Given the description of an element on the screen output the (x, y) to click on. 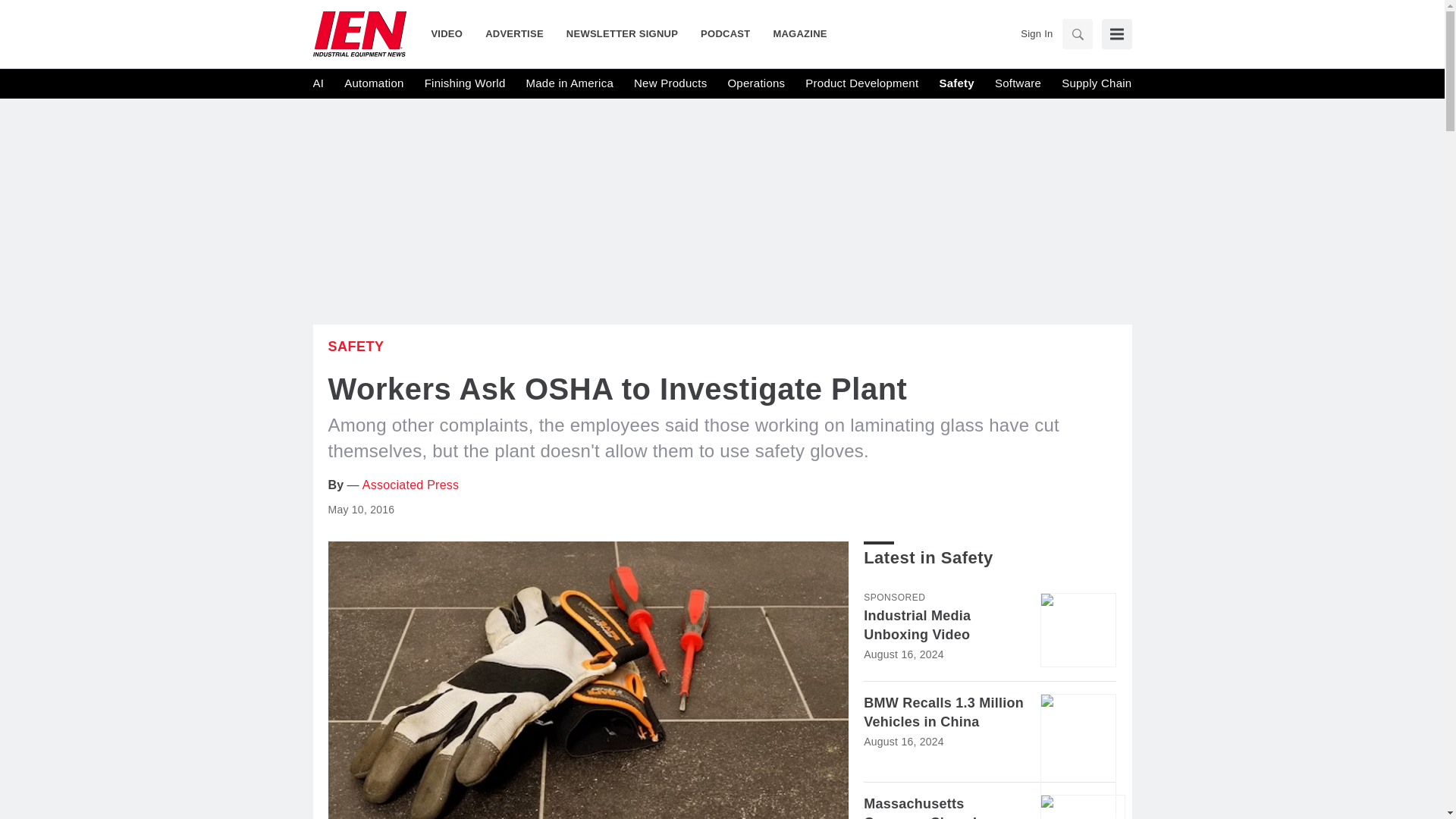
Supply Chain (1096, 83)
ADVERTISE (514, 33)
MAGAZINE (794, 33)
Operations (755, 83)
Safety (956, 83)
Product Development (861, 83)
PODCAST (724, 33)
Finishing World (465, 83)
Automation (373, 83)
VIDEO (452, 33)
